Given the description of an element on the screen output the (x, y) to click on. 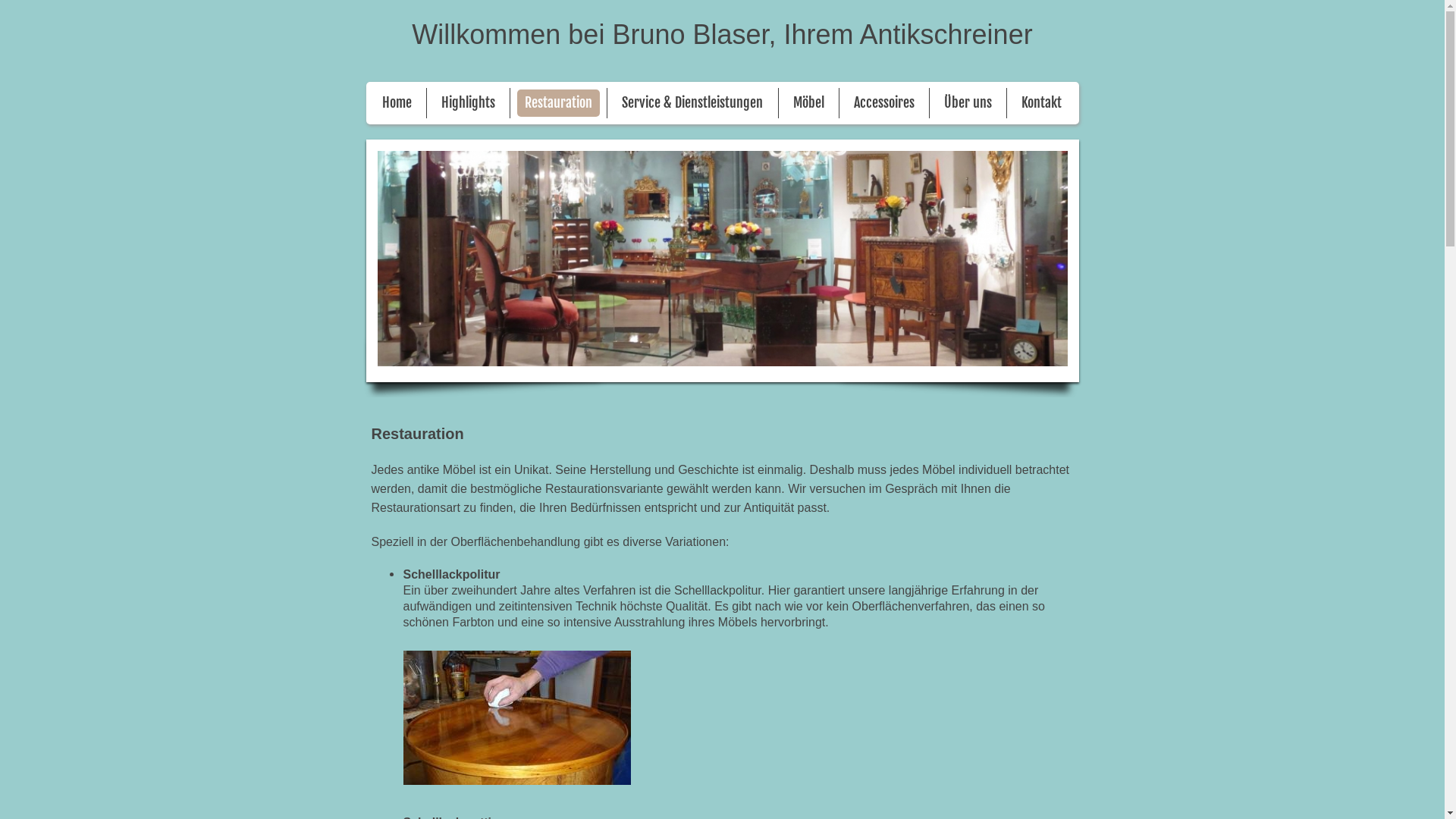
Willkommen bei Bruno Blaser, Ihrem Antikschreiner Element type: text (721, 33)
Kontakt Element type: text (1041, 102)
Restauration Element type: text (558, 102)
Highlights Element type: text (467, 102)
Service & Dienstleistungen Element type: text (692, 102)
Home Element type: text (396, 102)
Accessoires Element type: text (884, 102)
